Given the description of an element on the screen output the (x, y) to click on. 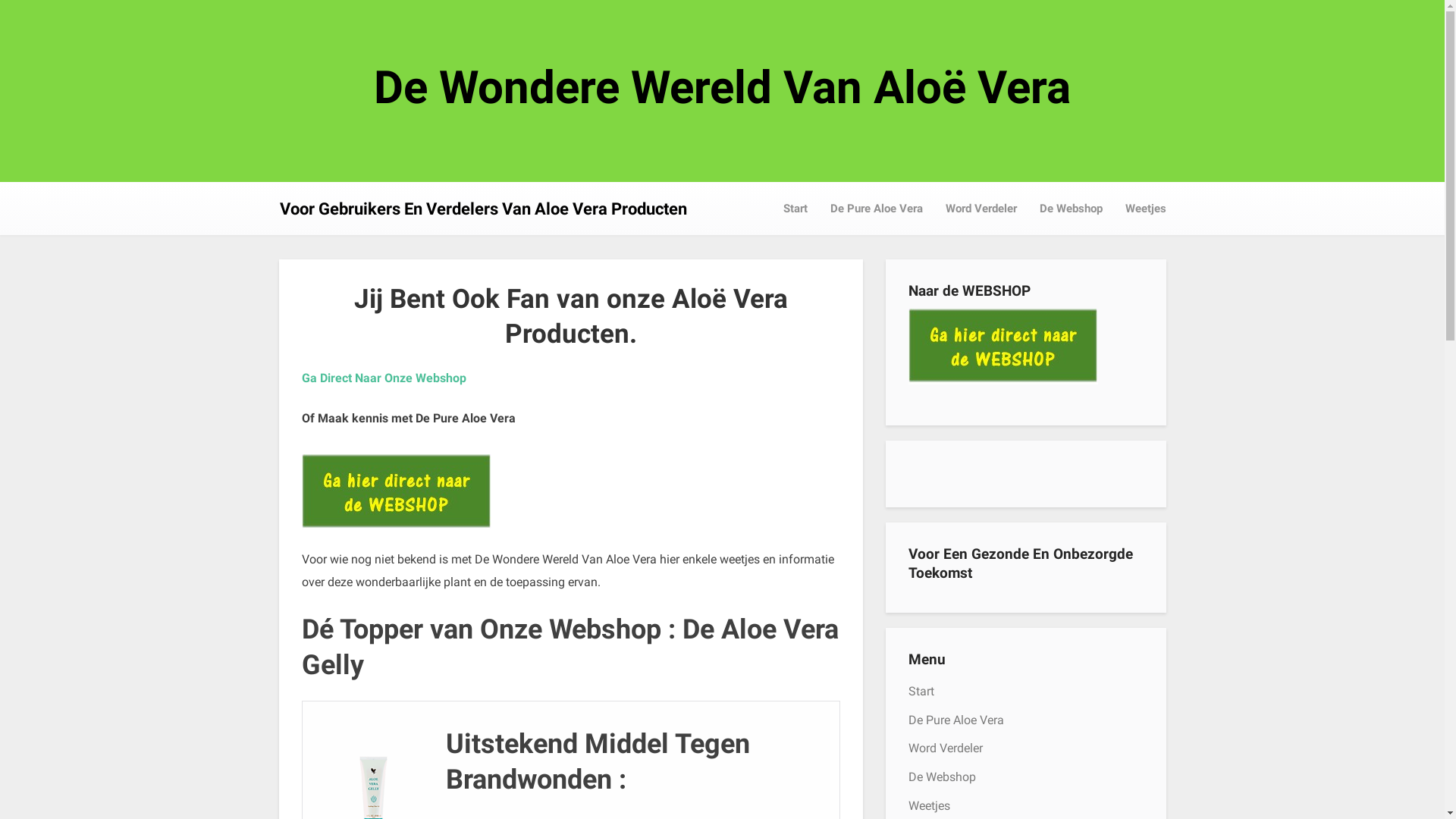
De Pure Aloe Vera Element type: text (956, 719)
Word Verdeler Element type: text (945, 747)
Weetjes Element type: text (929, 804)
Start Element type: text (795, 208)
Aloe Vera Webshop Element type: hover (1003, 346)
De Webshop Element type: text (941, 776)
De Pure Aloe Vera Element type: text (876, 208)
Word Verdeler Element type: text (981, 208)
Start Element type: text (921, 691)
De Webshop Element type: text (1070, 208)
Weetjes Element type: text (1144, 208)
Ga Direct Naar Onze Webshop Element type: text (383, 377)
Voor Gebruikers En Verdelers Van Aloe Vera Producten Element type: text (482, 208)
